Given the description of an element on the screen output the (x, y) to click on. 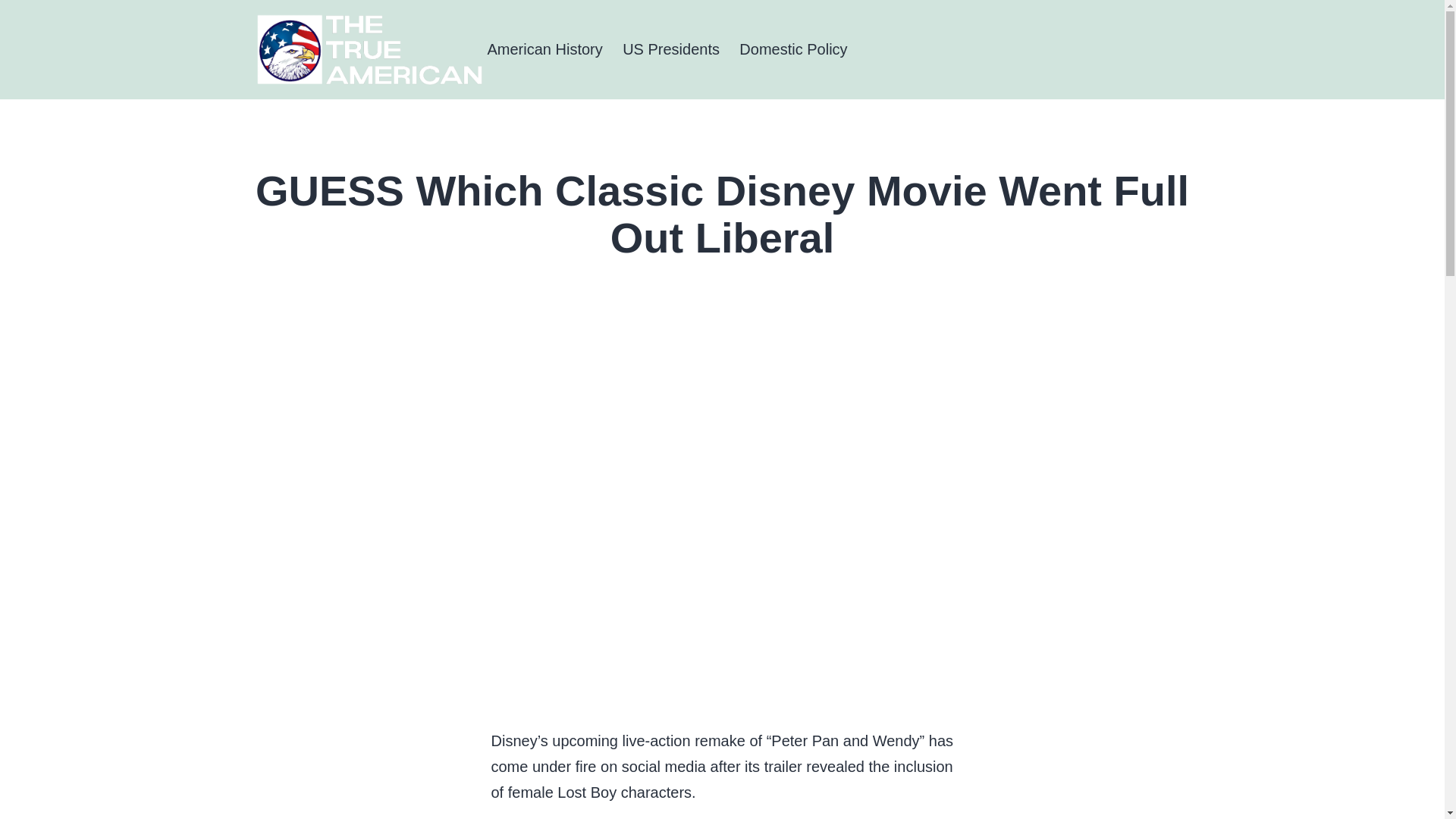
American History (544, 49)
Domestic Policy (793, 49)
US Presidents (670, 49)
